Given the description of an element on the screen output the (x, y) to click on. 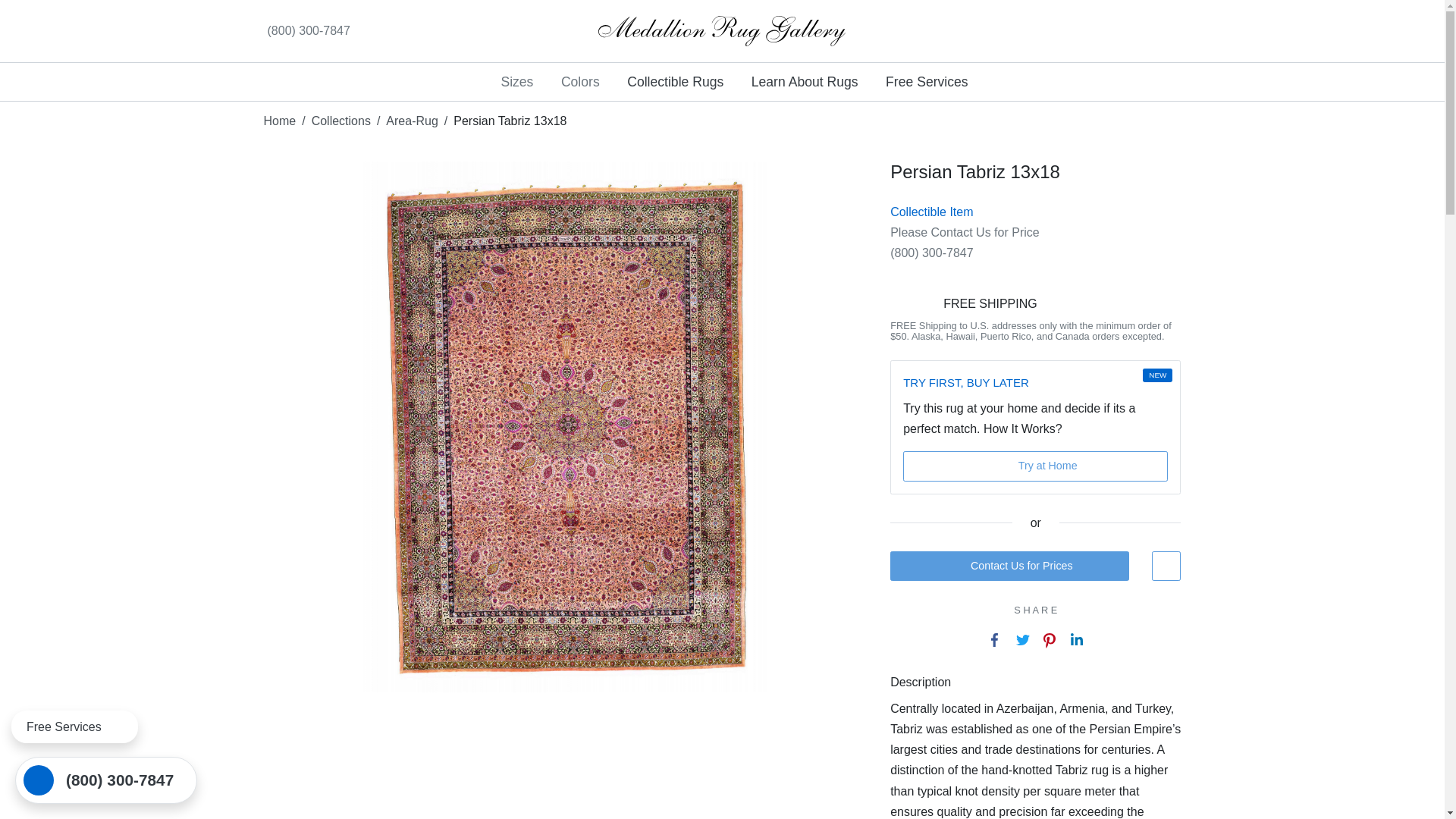
Search (1104, 30)
Linked-In (380, 30)
Instagram (437, 30)
Try at home (1136, 30)
Account (1072, 30)
Shopping Cart. (1168, 30)
Facebook (408, 30)
Sizes (516, 81)
Wishlist (1040, 30)
